Given the description of an element on the screen output the (x, y) to click on. 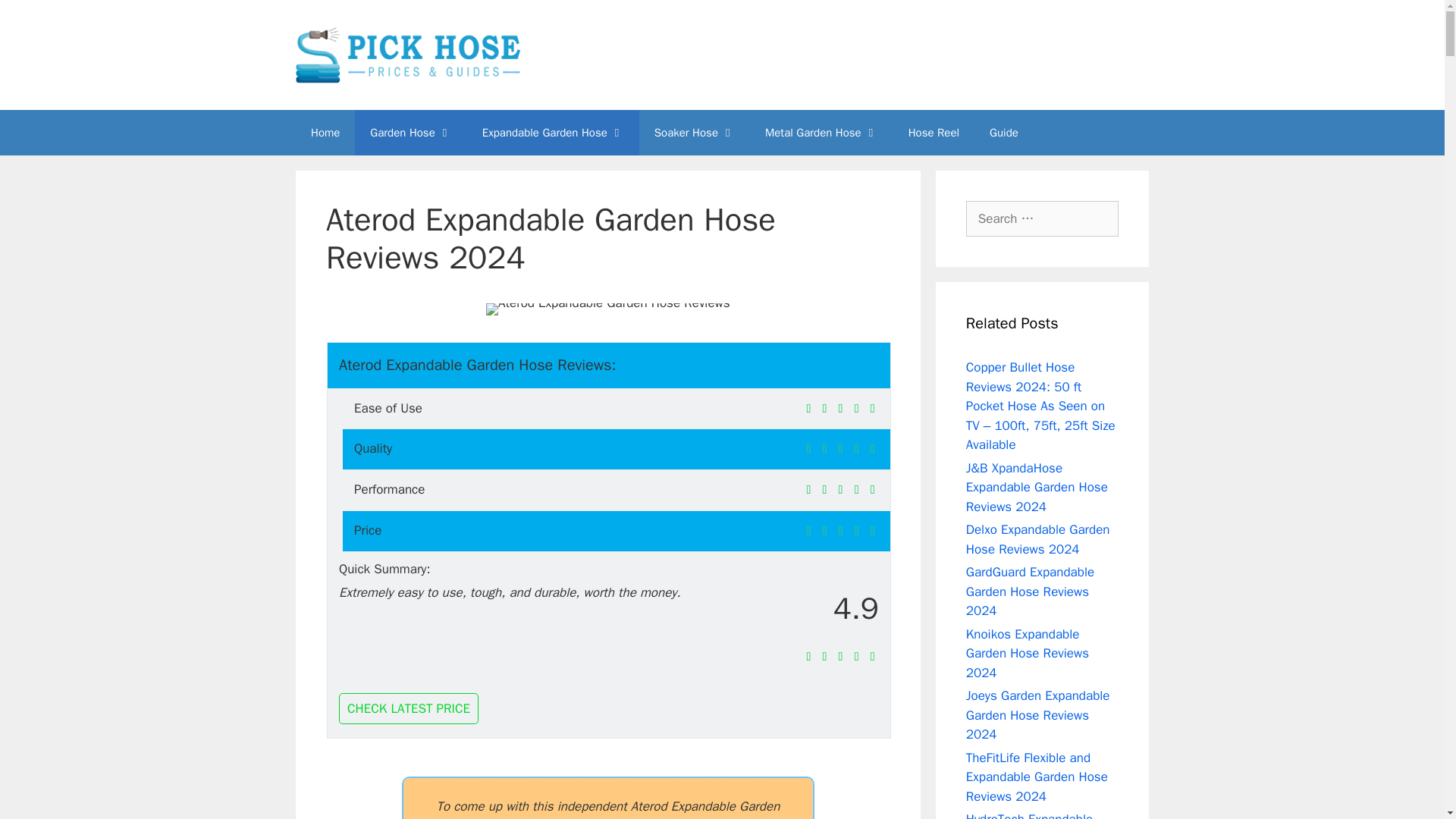
Expandable Garden Hose (553, 132)
Search for: (1042, 218)
Garden Hose (410, 132)
Home (325, 132)
